Given the description of an element on the screen output the (x, y) to click on. 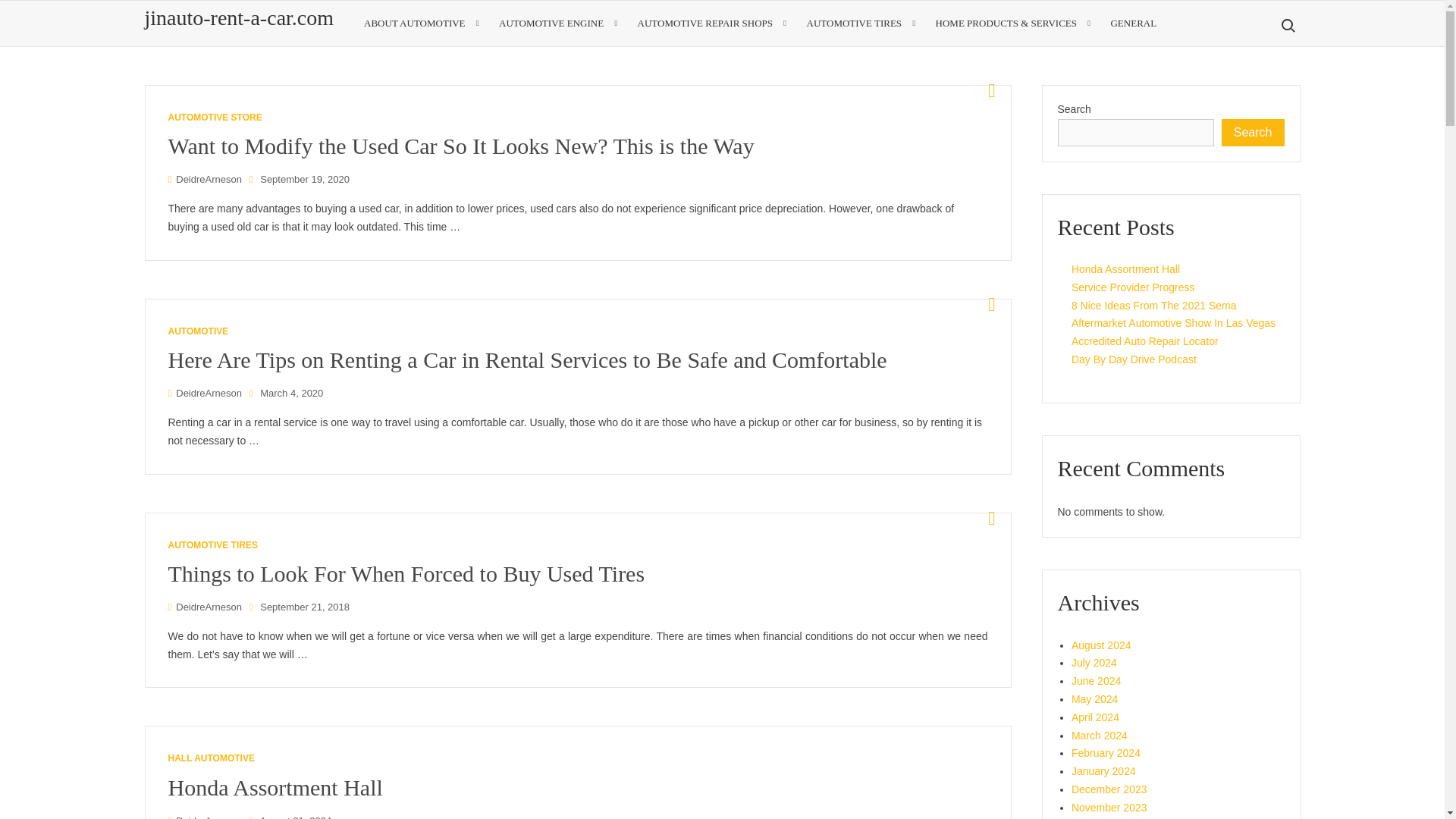
jinauto-rent-a-car.com (238, 17)
ABOUT AUTOMOTIVE (419, 22)
